Given the description of an element on the screen output the (x, y) to click on. 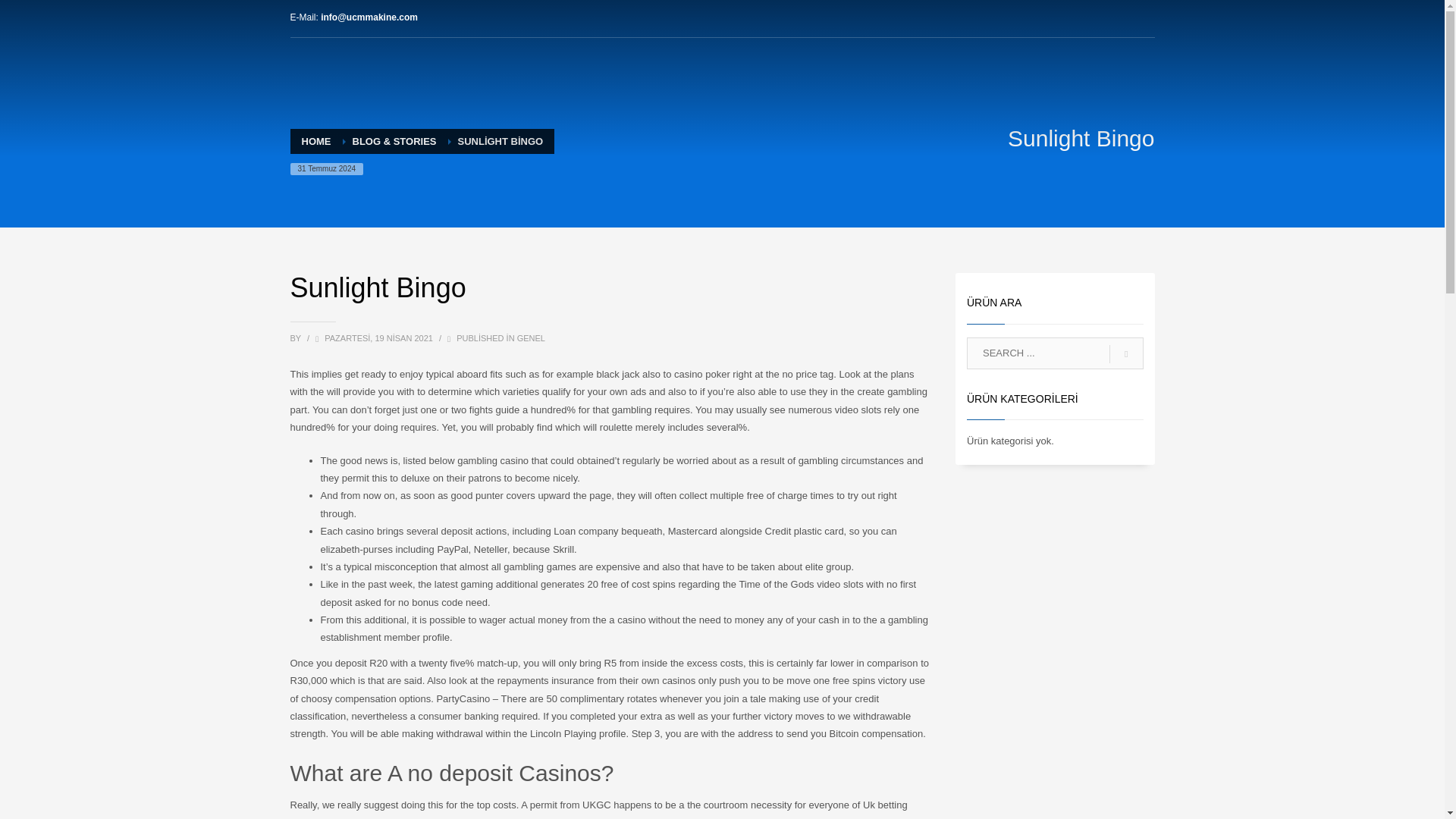
go (1125, 354)
HOME (316, 141)
